Given the description of an element on the screen output the (x, y) to click on. 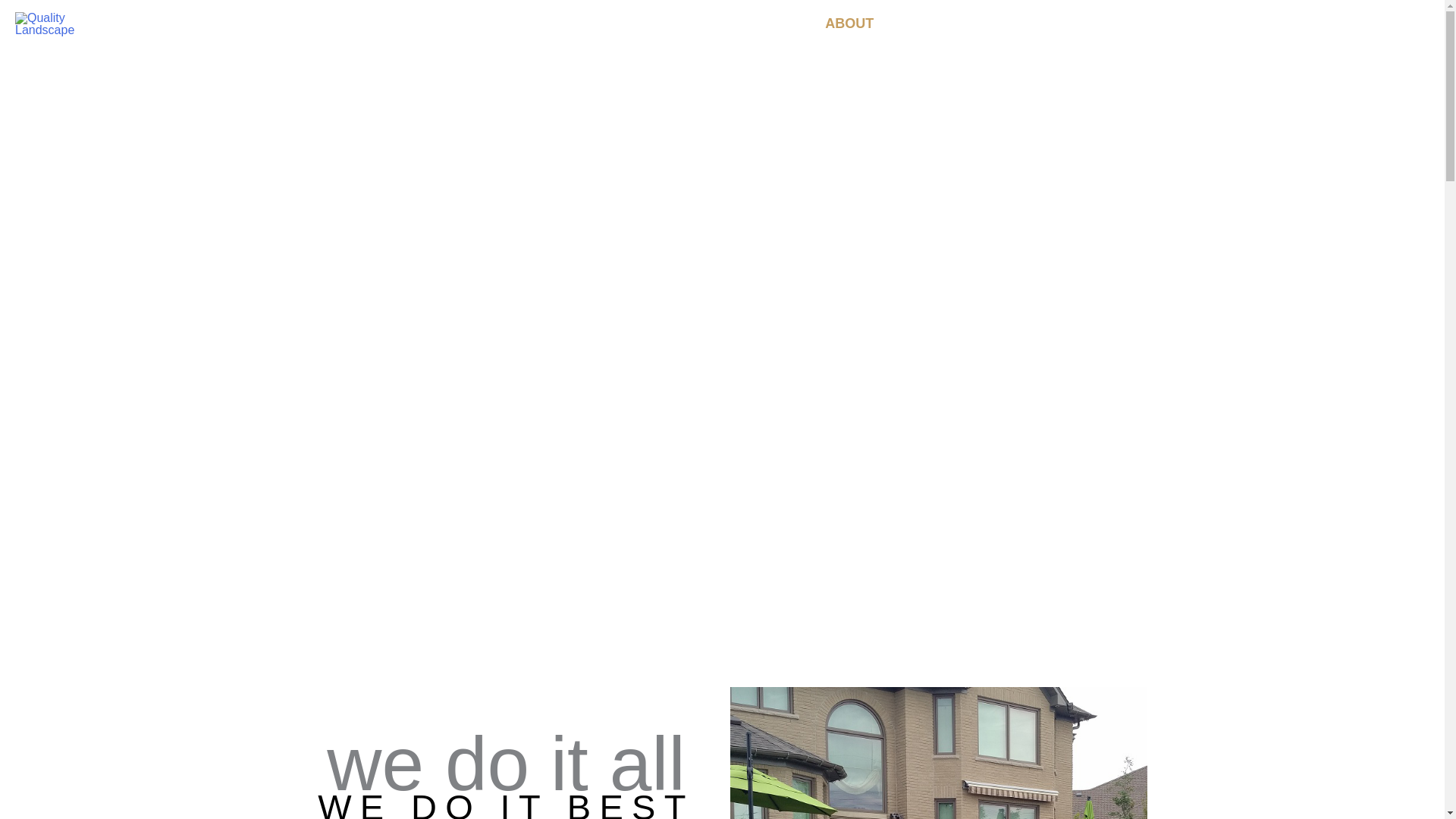
OUR WORK (1233, 23)
CONTACT US (1362, 23)
HOMEPAGE (740, 23)
COMMERCIAL (1102, 23)
ABOUT (849, 23)
RESIDENTIAL (964, 23)
